Given the description of an element on the screen output the (x, y) to click on. 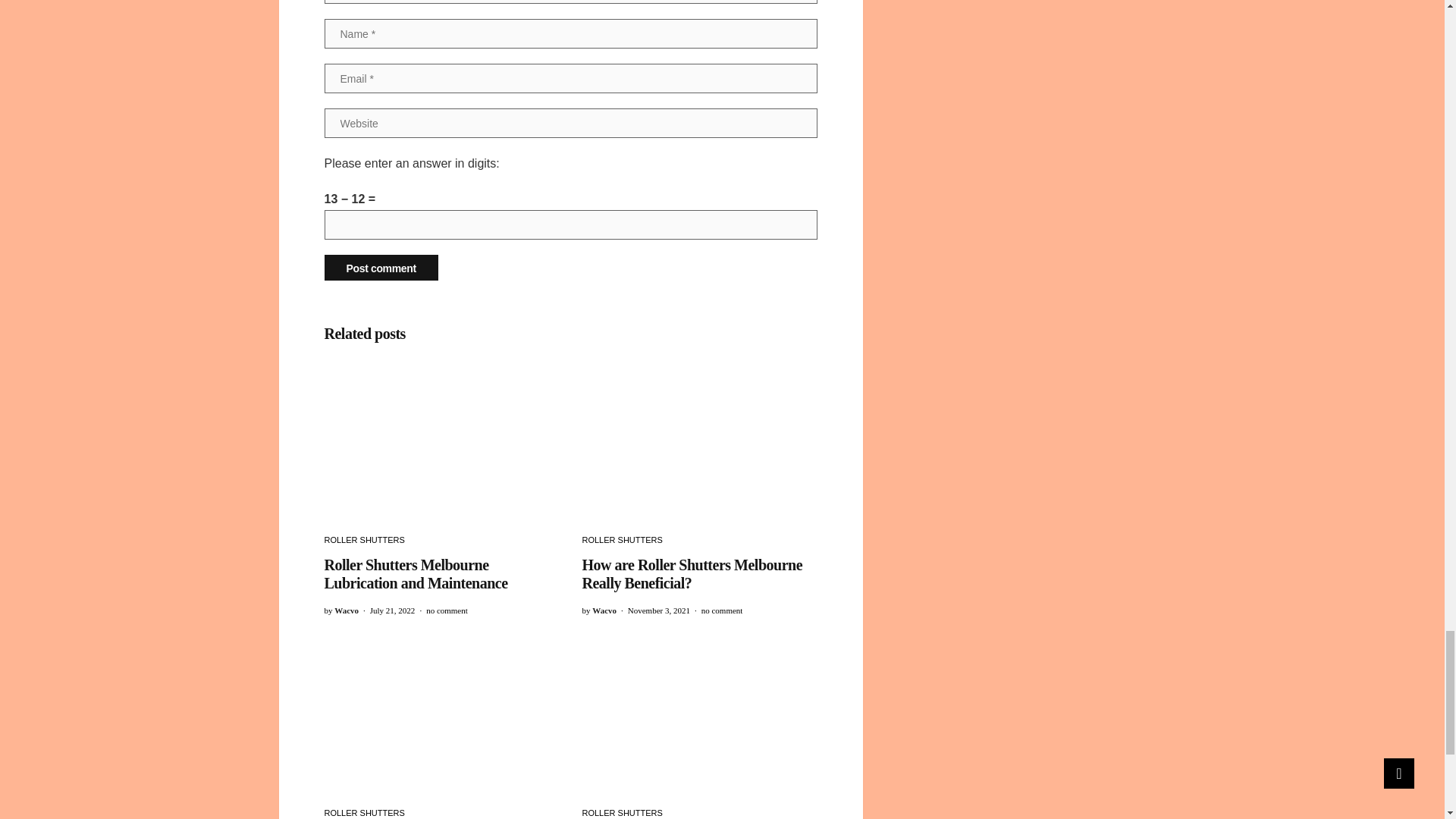
Posts by Wacvo (346, 610)
View all posts in Roller shutters (364, 540)
Post comment (381, 267)
